Given the description of an element on the screen output the (x, y) to click on. 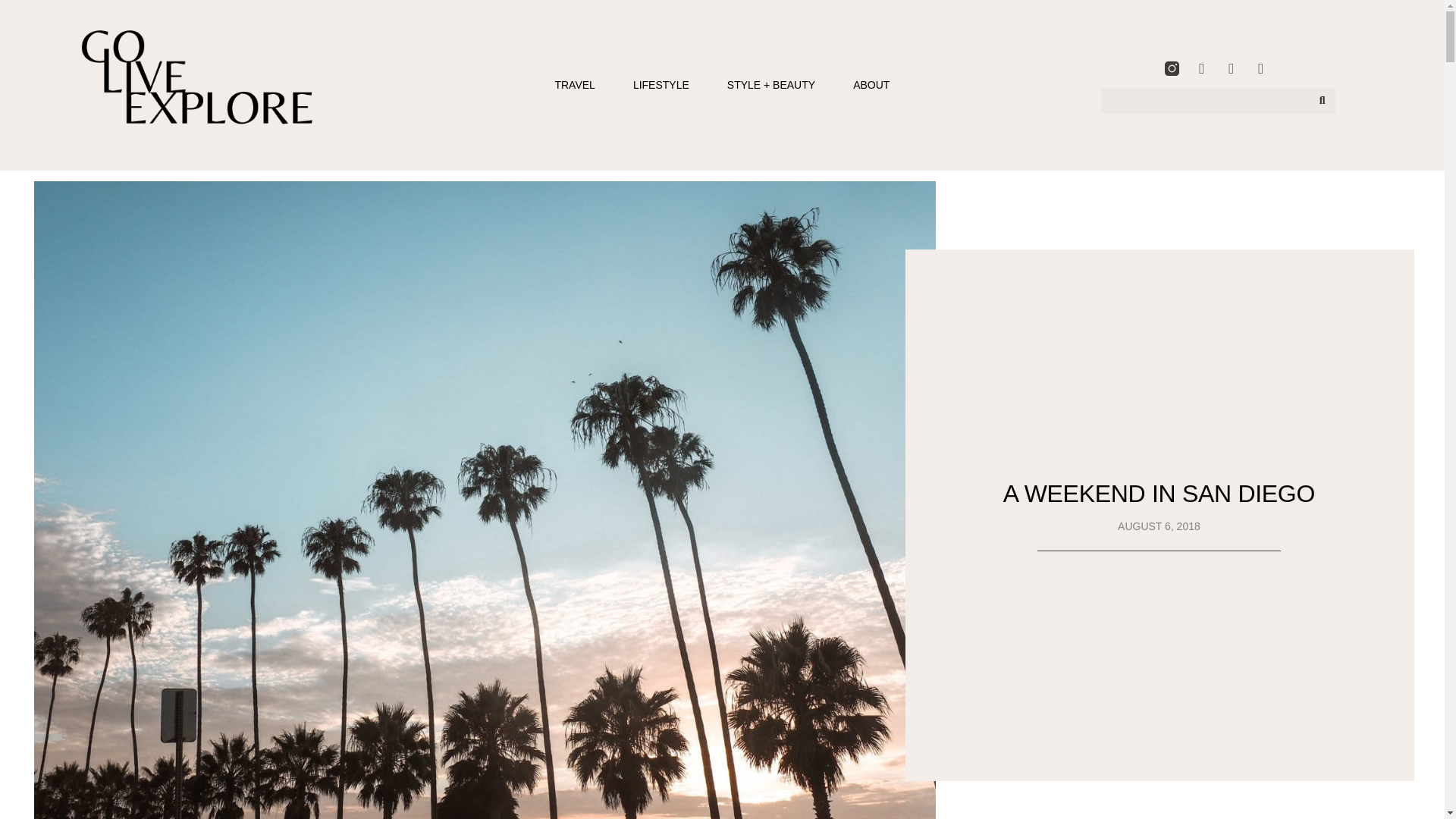
LIFESTYLE (660, 84)
TRAVEL (574, 84)
